Given the description of an element on the screen output the (x, y) to click on. 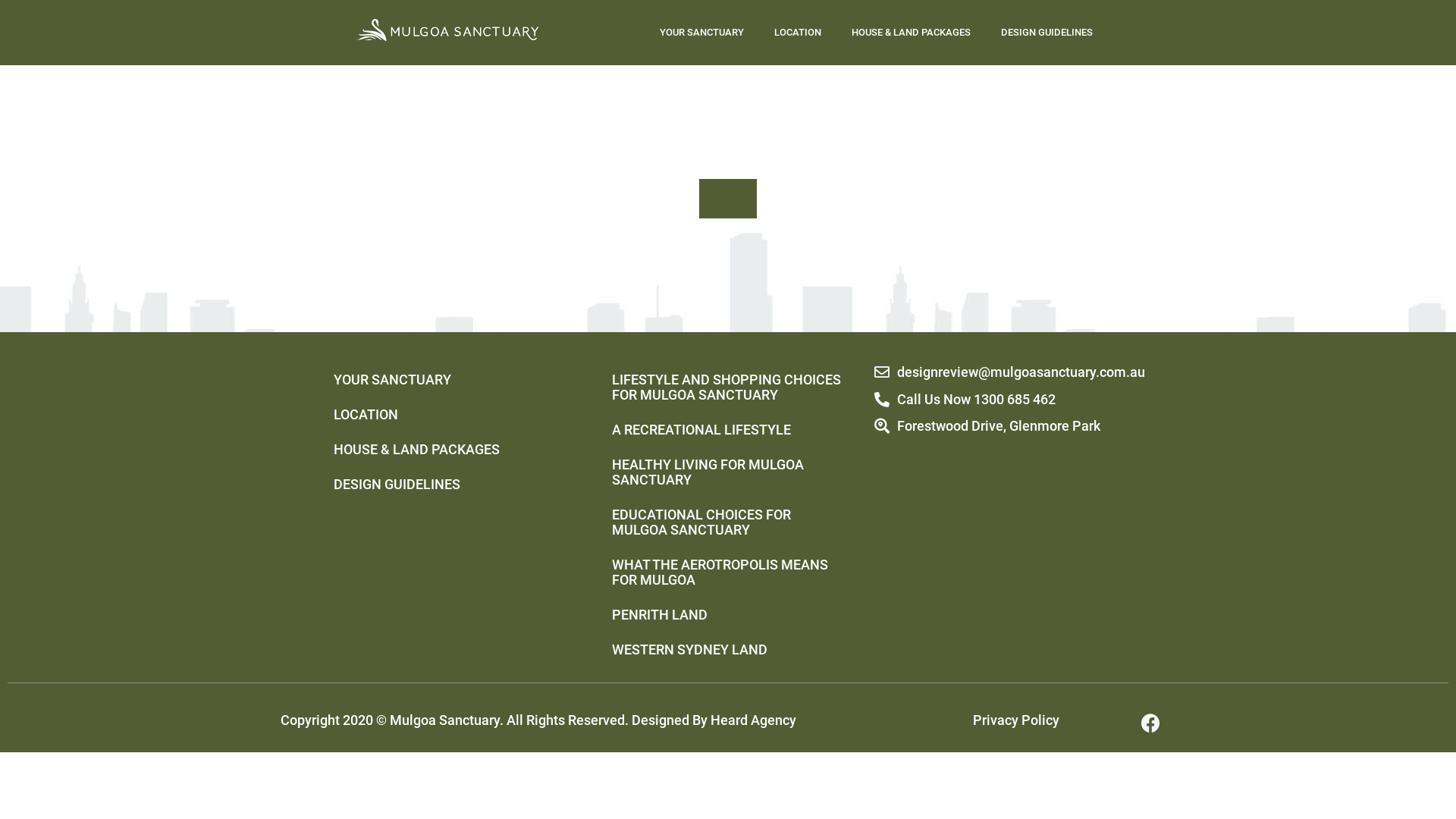
WHAT THE AEROTROPOLIS MEANS FOR MULGOA Element type: text (727, 572)
HEALTHY LIVING FOR MULGOA SANCTUARY Element type: text (727, 472)
A RECREATIONAL LIFESTYLE Element type: text (727, 429)
LIFESTYLE AND SHOPPING CHOICES FOR MULGOA SANCTUARY Element type: text (727, 387)
DESIGN GUIDELINES Element type: text (1046, 32)
YOUR SANCTUARY Element type: text (449, 379)
EDUCATIONAL CHOICES FOR MULGOA SANCTUARY Element type: text (727, 522)
YOUR SANCTUARY Element type: text (701, 32)
HOUSE & LAND PACKAGES Element type: text (449, 449)
PENRITH LAND Element type: text (727, 614)
LOCATION Element type: text (797, 32)
HOUSE & LAND PACKAGES Element type: text (910, 32)
LOCATION Element type: text (449, 414)
DESIGN GUIDELINES Element type: text (449, 484)
WESTERN SYDNEY LAND Element type: text (727, 649)
